Given the description of an element on the screen output the (x, y) to click on. 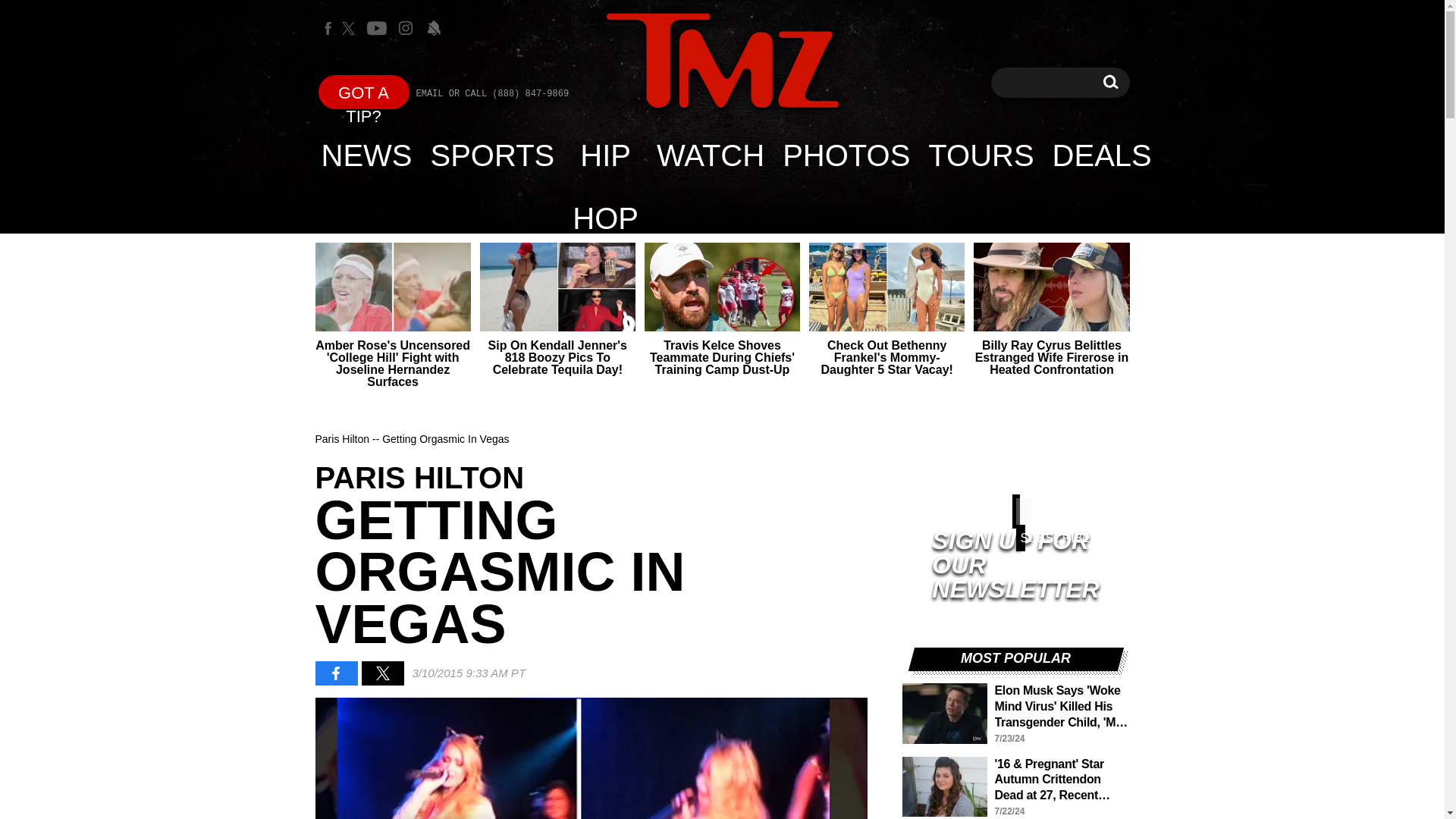
PHOTOS (845, 154)
SPORTS (493, 154)
NEWS (367, 154)
GOT A TIP? (363, 91)
TOURS (980, 154)
WATCH (710, 154)
TMZ (1110, 82)
TMZ (722, 60)
Search (722, 62)
HIP HOP (1110, 81)
DEALS (605, 154)
